Given the description of an element on the screen output the (x, y) to click on. 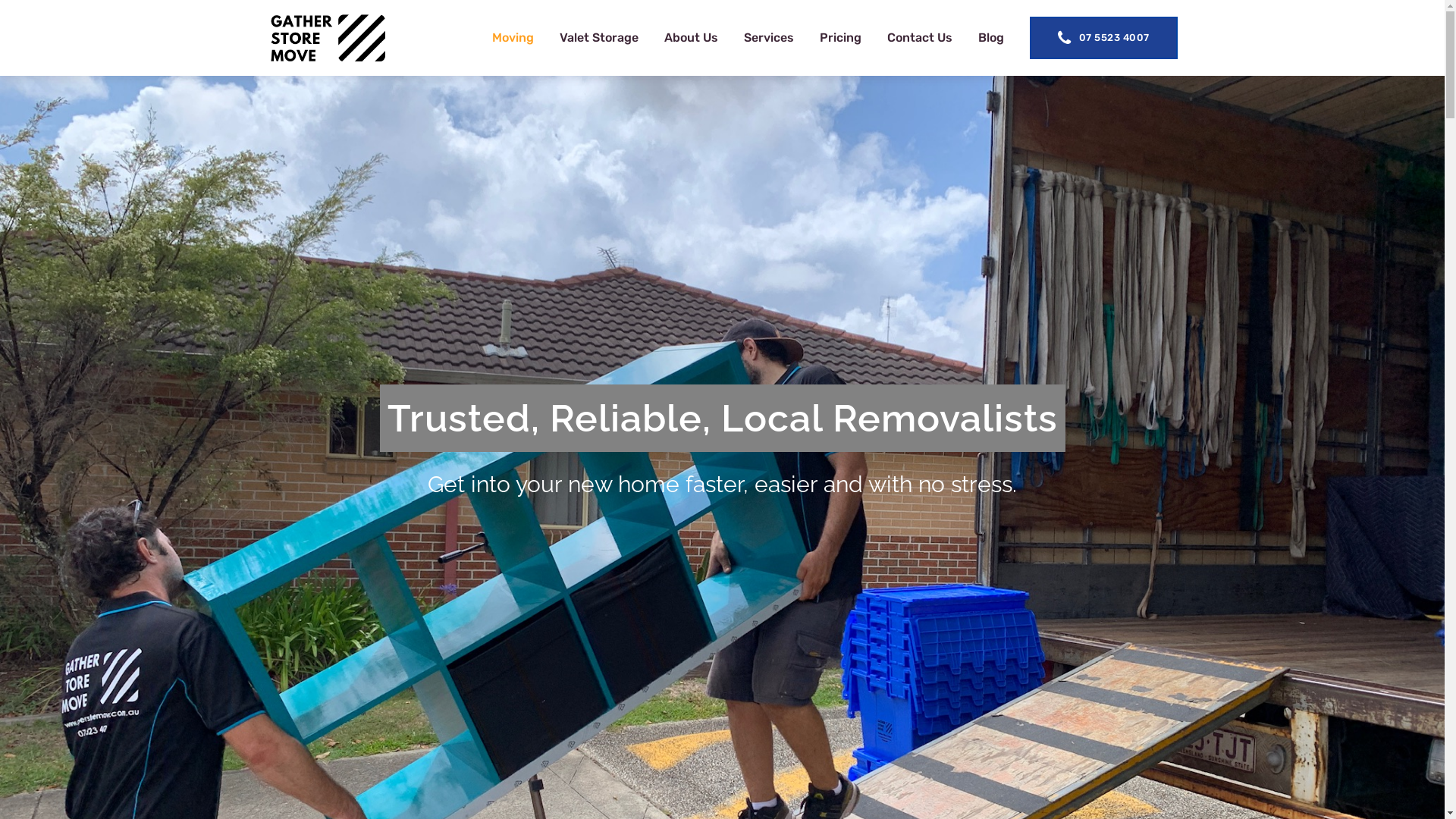
Pricing Element type: text (840, 37)
Moving Element type: text (512, 37)
Contact Us Element type: text (919, 37)
Blog Element type: text (990, 37)
Services Element type: text (768, 37)
07 5523 4007 Element type: text (1103, 37)
Valet Storage Element type: text (598, 37)
About Us Element type: text (691, 37)
